Given the description of an element on the screen output the (x, y) to click on. 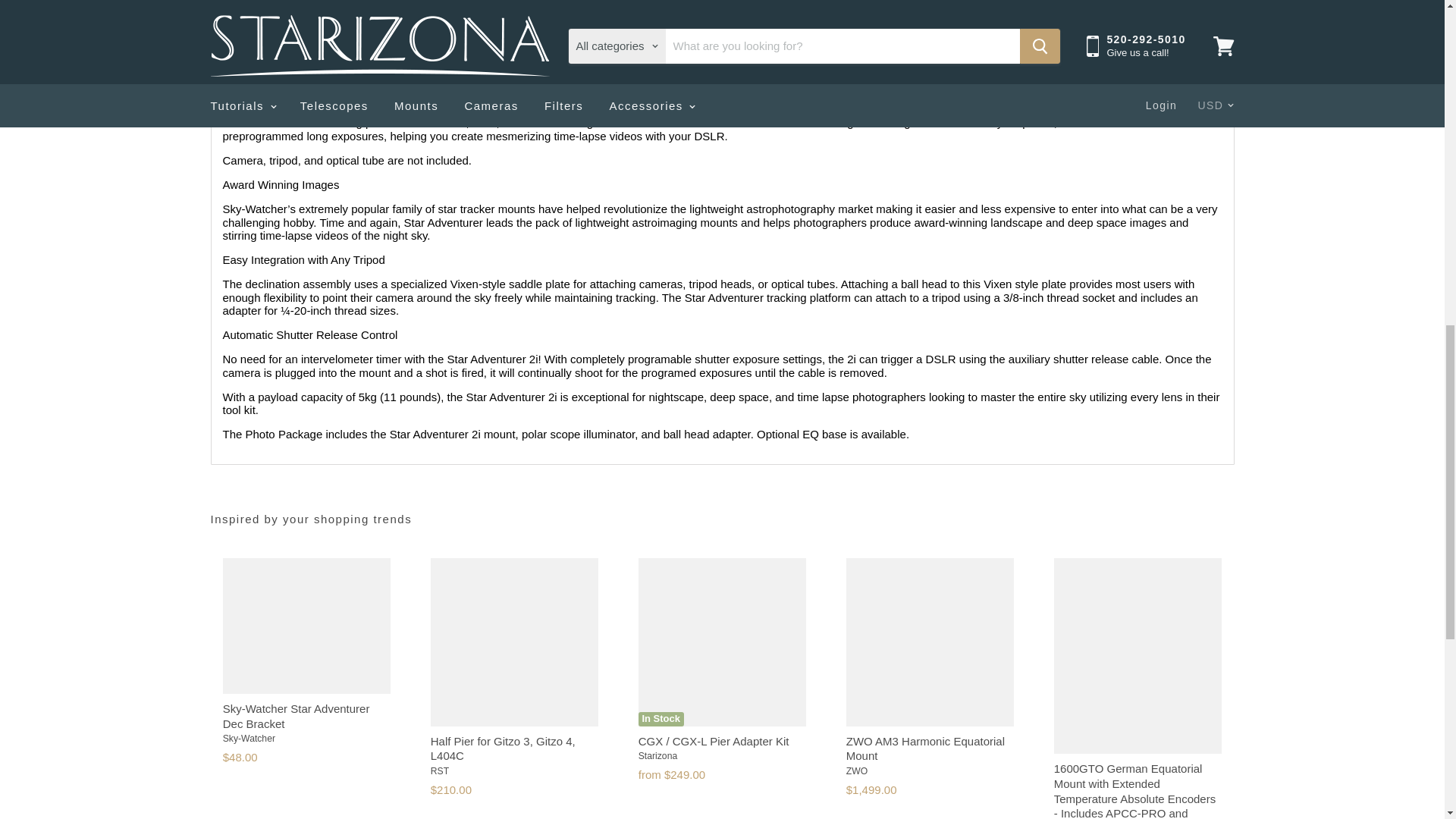
ZWO (856, 770)
RST (439, 770)
Starizona (658, 756)
Sky-Watcher (248, 738)
